Given the description of an element on the screen output the (x, y) to click on. 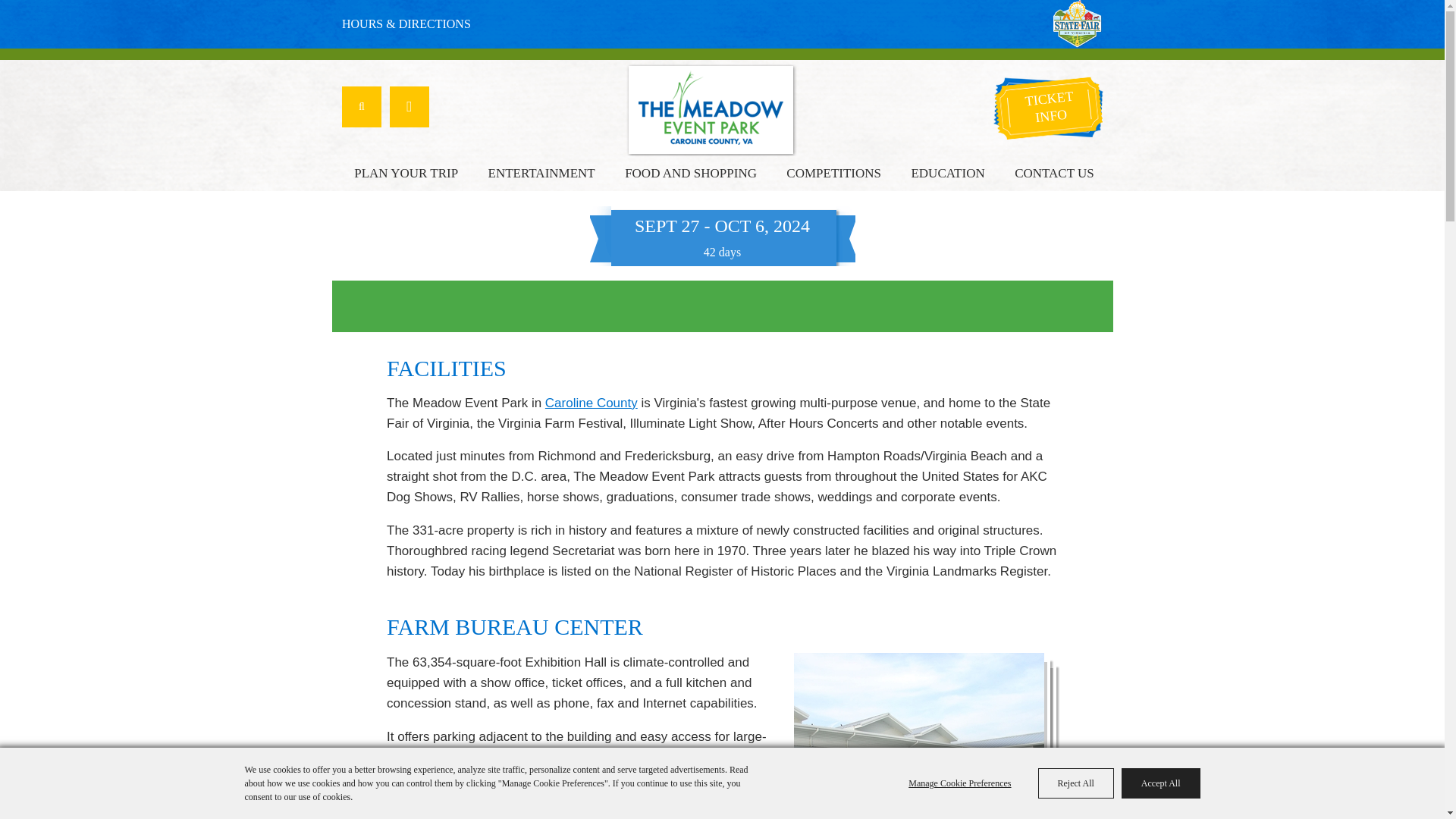
SEARCH (361, 106)
FOOD AND SHOPPING (690, 173)
GET UPDATES (409, 106)
ENTERTAINMENT (541, 173)
PLAN YOUR TRIP (405, 173)
TICKET INFO (1049, 109)
